Given the description of an element on the screen output the (x, y) to click on. 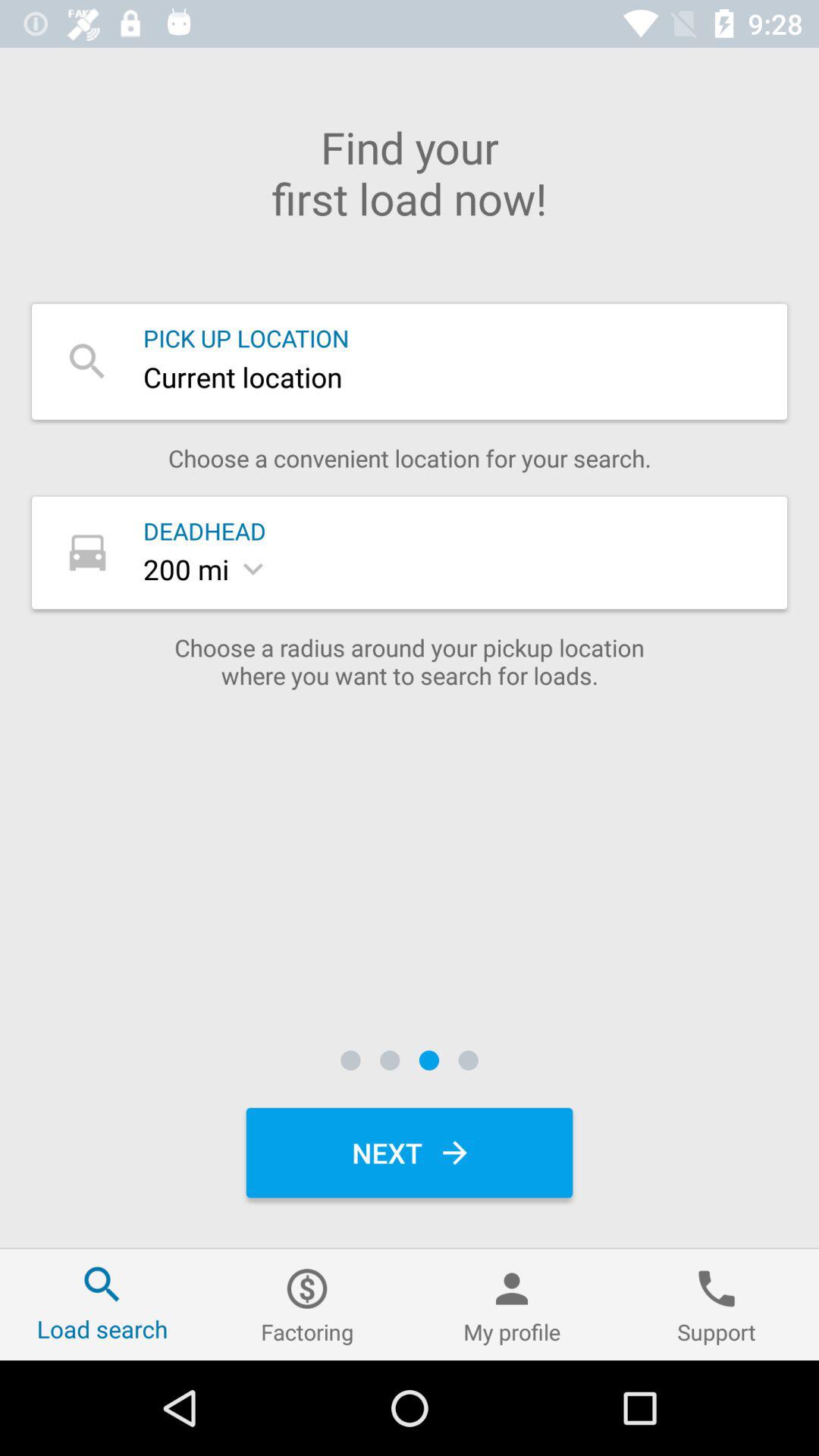
open factoring icon (306, 1304)
